Given the description of an element on the screen output the (x, y) to click on. 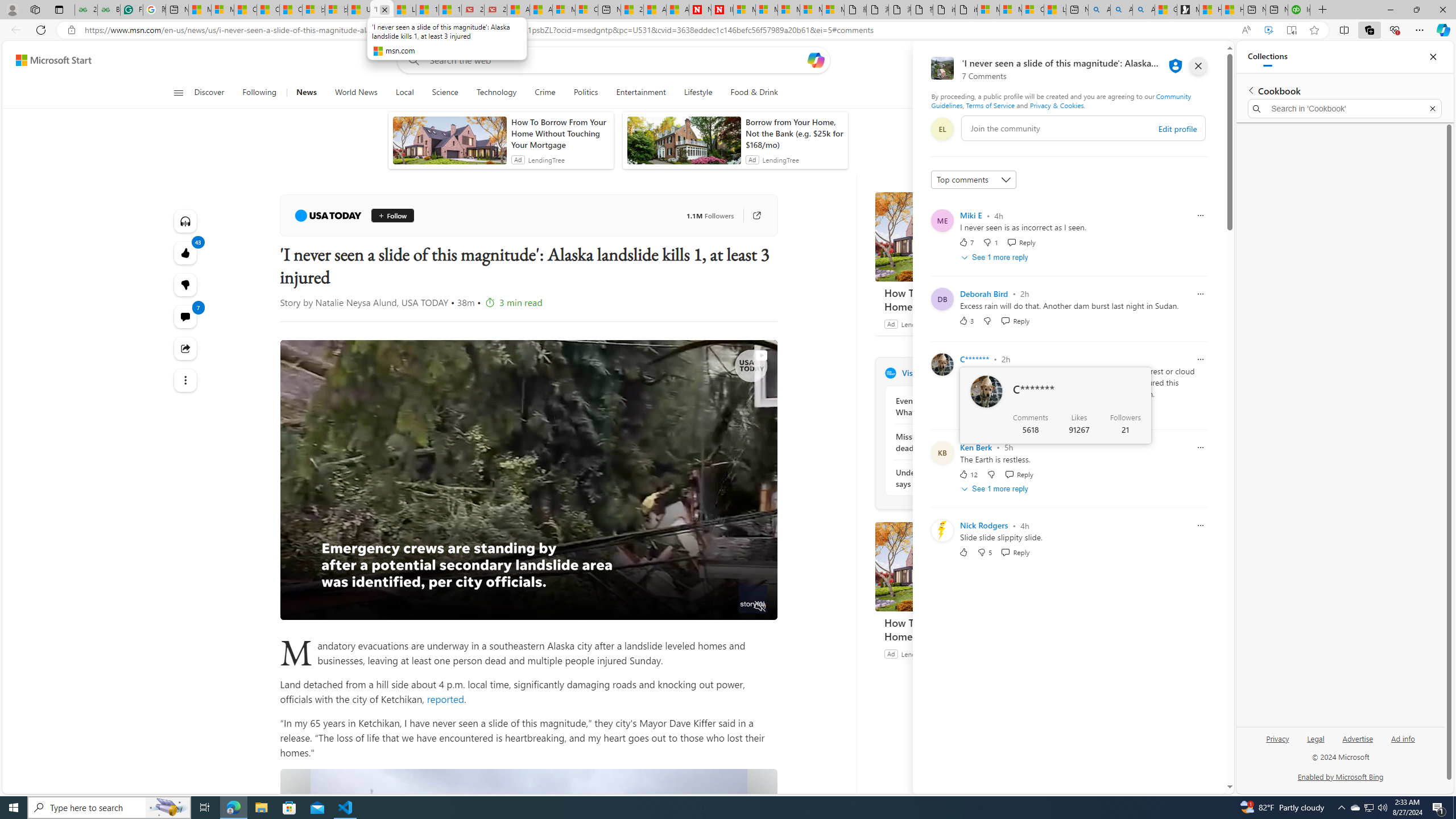
How to Use a TV as a Computer Monitor (1232, 9)
Community Guidelines (1060, 100)
43 (184, 284)
Alabama high school quarterback dies - Search Videos (1143, 9)
Alabama high school quarterback dies - Search (1099, 9)
Sort comments by (973, 179)
USA TODAY (328, 215)
